Given the description of an element on the screen output the (x, y) to click on. 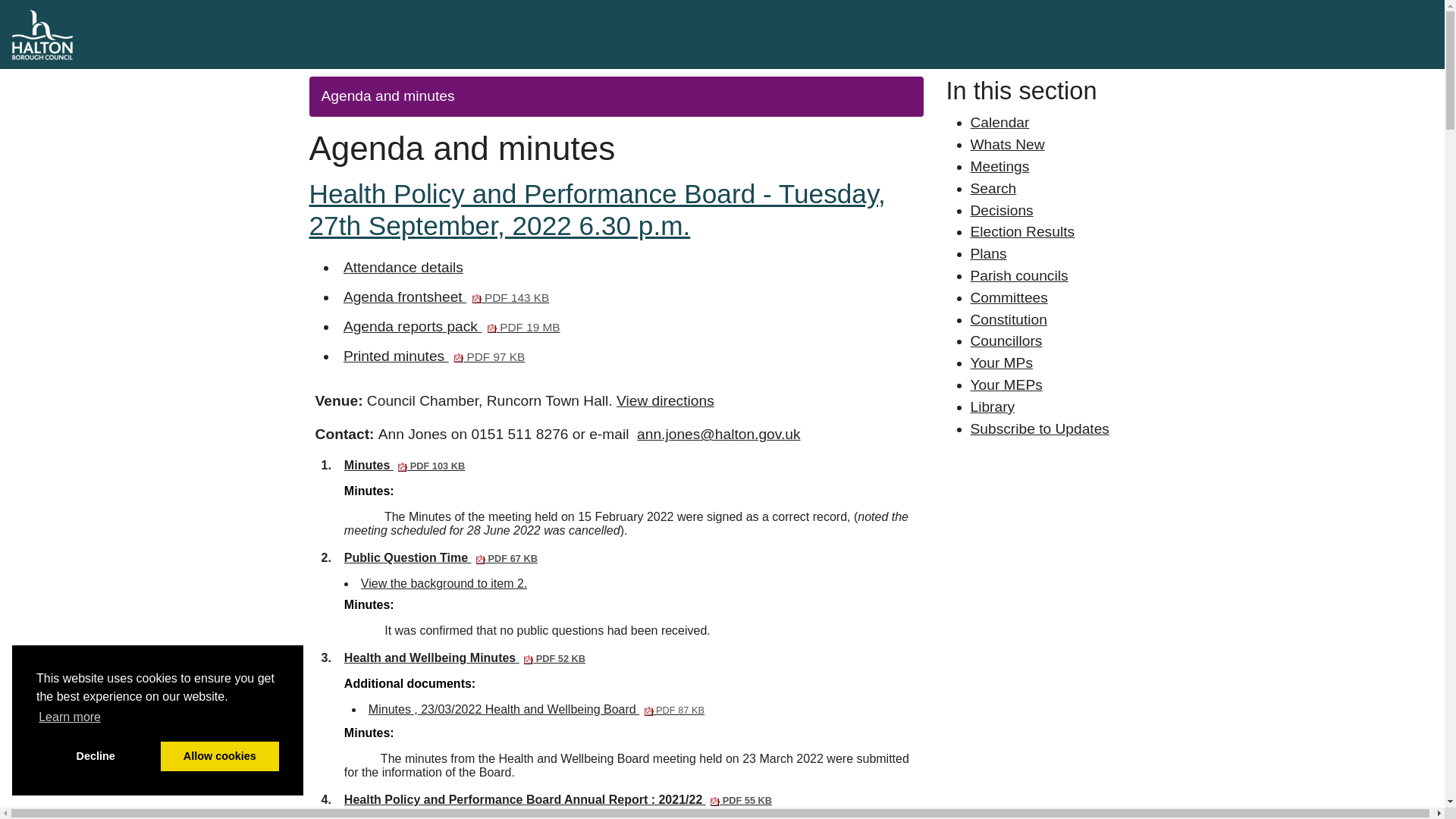
Agenda reports pack PDF 19 MB (451, 326)
Link to document 'Minutes' pdf file (403, 464)
Health and Wellbeing Minutes PDF 52 KB (464, 657)
Minutes PDF 103 KB (403, 464)
Agenda frontsheet PDF 143 KB (445, 296)
Link to issue details for  item 2. (444, 583)
Link to directions to Council Chamber, Runcorn Town Hall (664, 400)
Attendance details (403, 267)
View the background to item 2. (444, 583)
Printed minutes PDF 97 KB (433, 355)
Link to agenda frontsheet pdf file (445, 296)
Link to document 'Public Question Time' pdf file (440, 557)
Link to agenda reports  document pack pdf file (451, 326)
Link to document 'Health and Wellbeing Minutes' pdf file (464, 657)
